Given the description of an element on the screen output the (x, y) to click on. 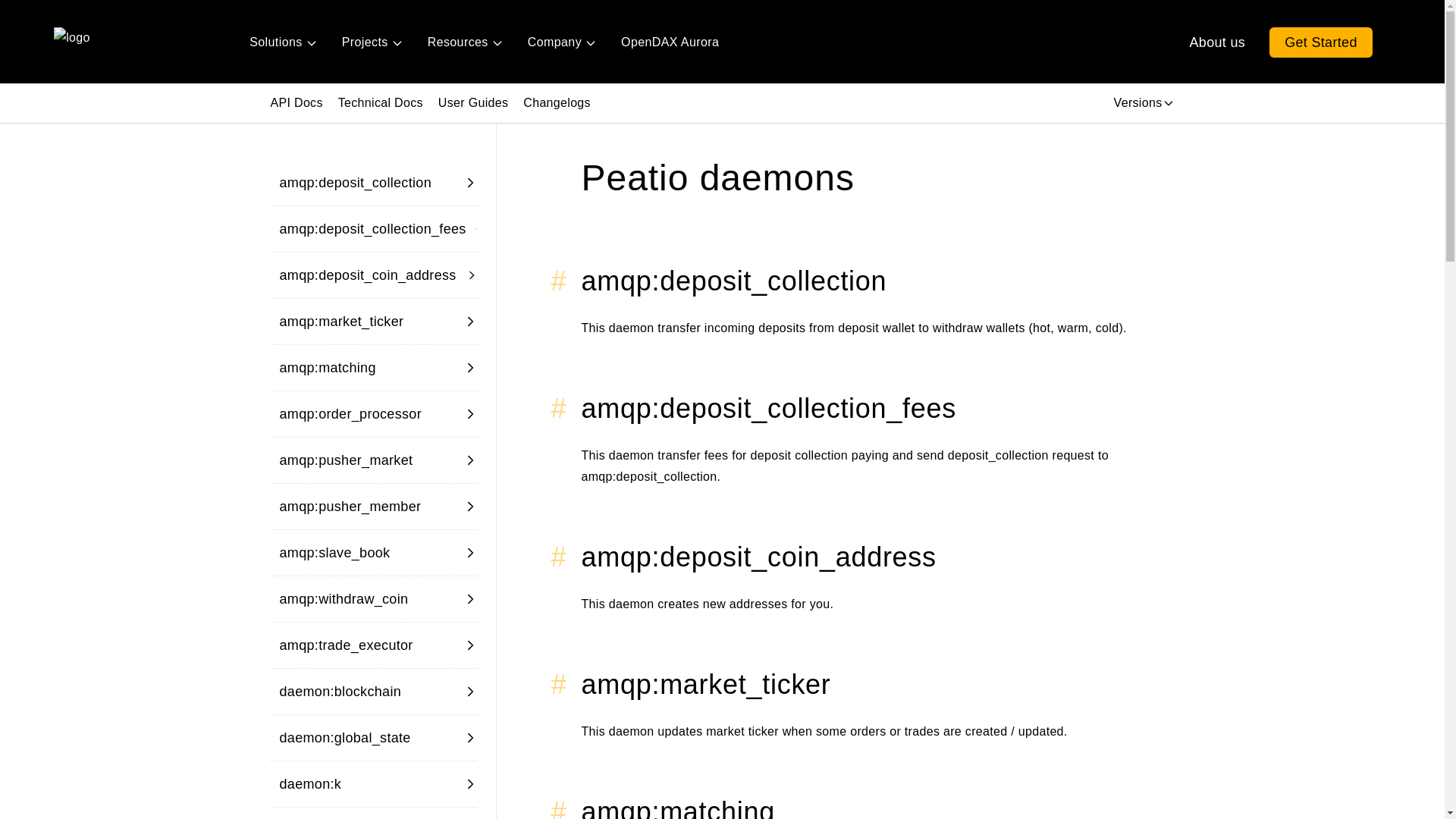
API Docs (295, 102)
Get Started (1321, 42)
Changelogs (556, 102)
About us (1217, 42)
Company (561, 42)
Technical Docs (380, 102)
Solutions (283, 42)
User Guides (473, 102)
Projects (372, 42)
Resources (464, 42)
